Given the description of an element on the screen output the (x, y) to click on. 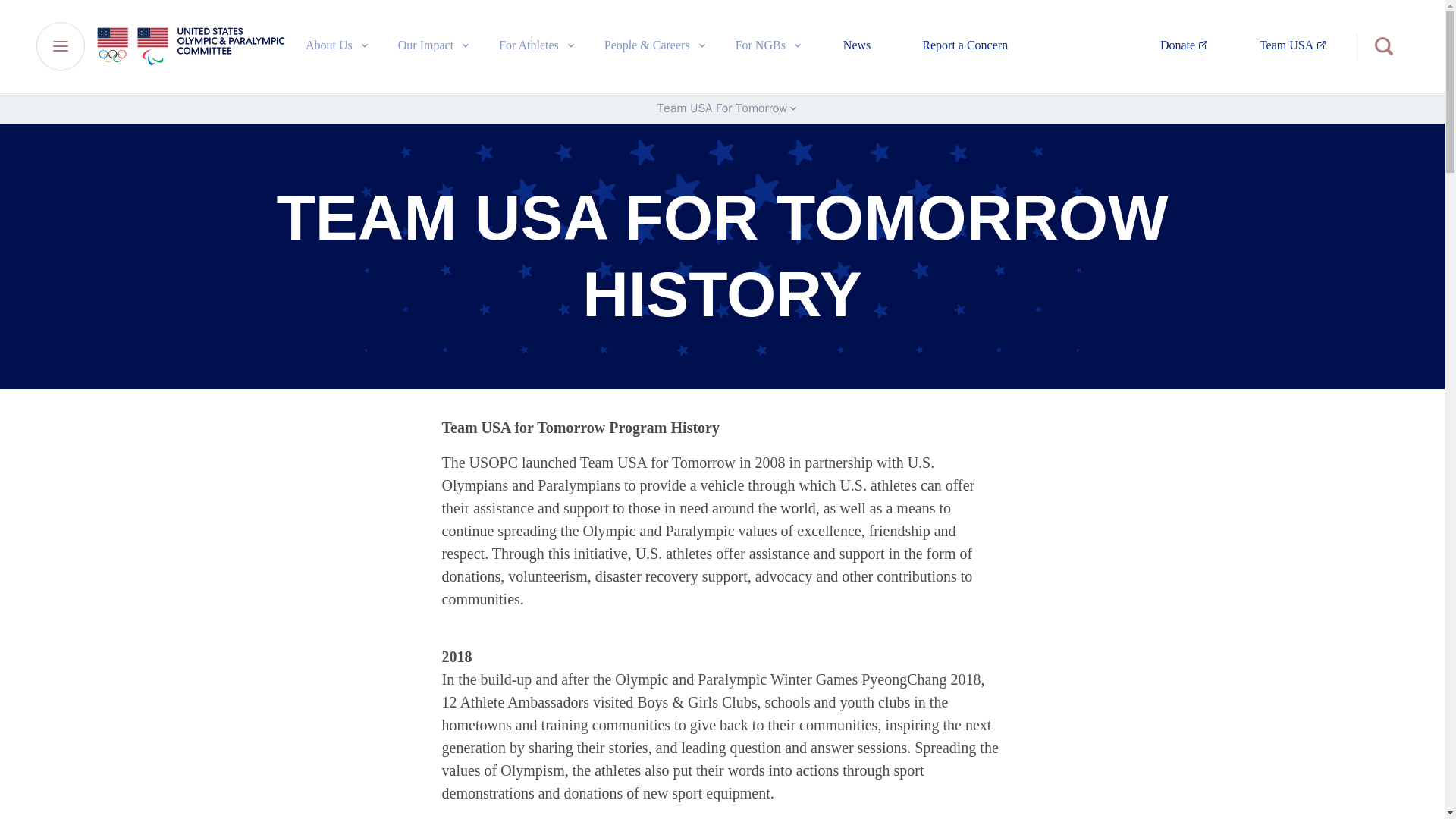
Report a Concern (964, 45)
News (1292, 45)
For Athletes (856, 45)
For NGBs (537, 45)
About Us (769, 45)
Our Impact (1184, 45)
